Given the description of an element on the screen output the (x, y) to click on. 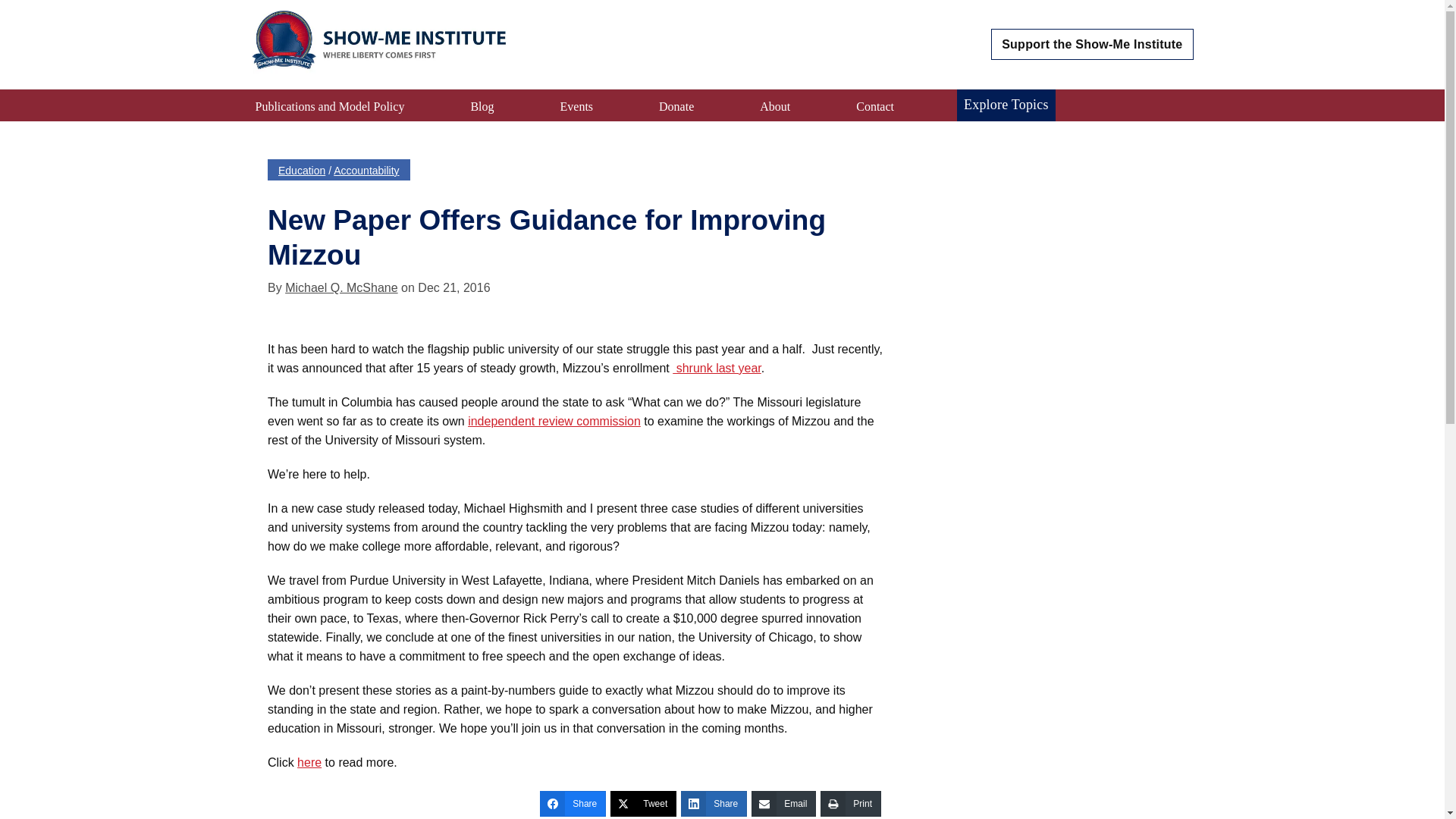
Posts by Michael Q. McShane (341, 287)
